Given the description of an element on the screen output the (x, y) to click on. 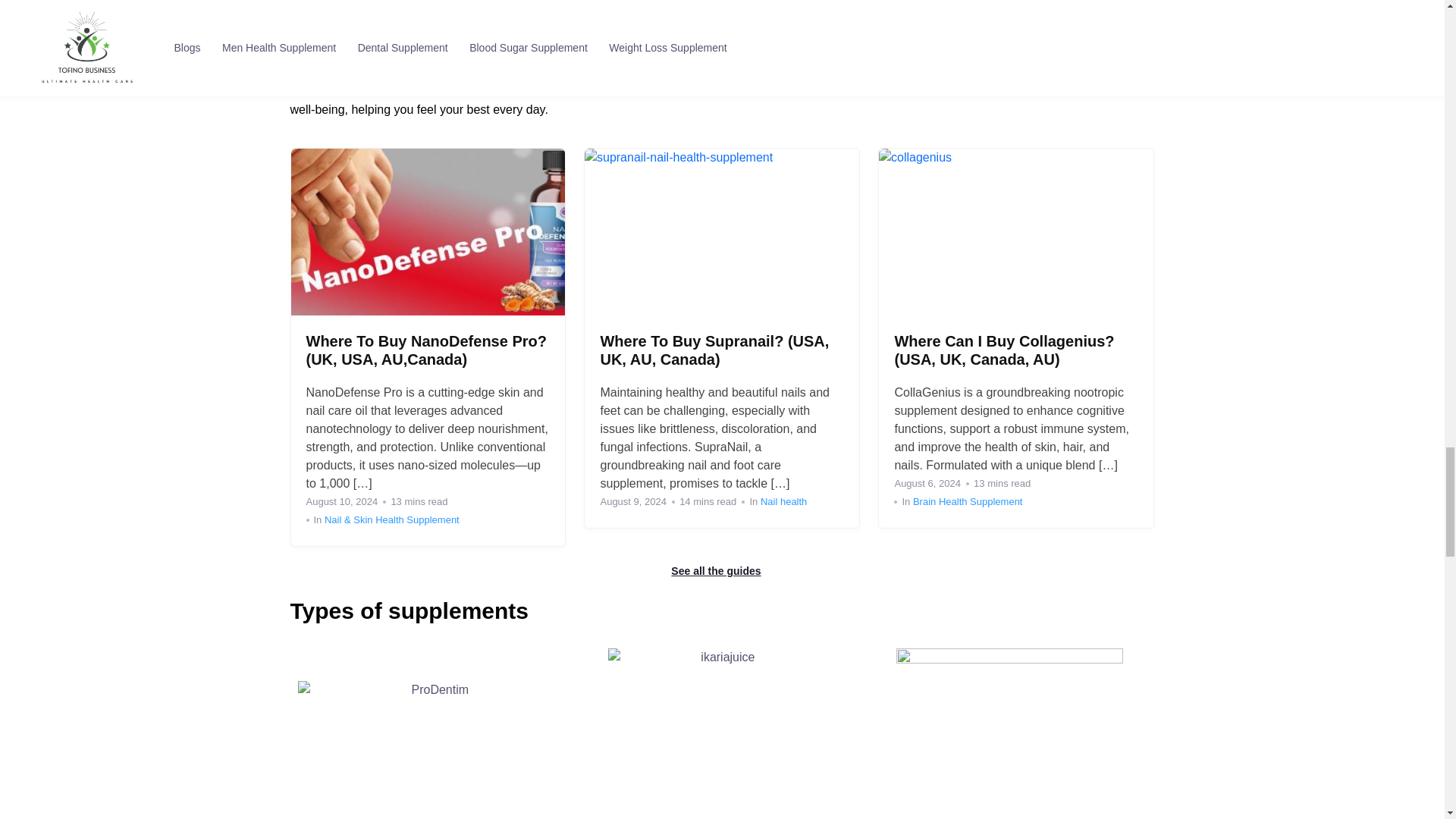
Nail health (783, 501)
Brain Health Supplement (967, 501)
See all the guides (721, 571)
